Given the description of an element on the screen output the (x, y) to click on. 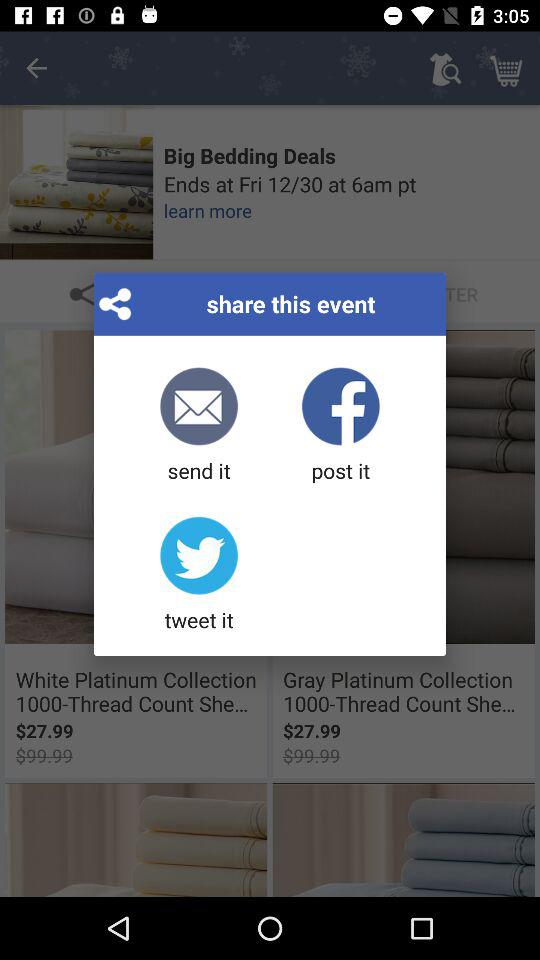
open the icon next to send it item (340, 425)
